Given the description of an element on the screen output the (x, y) to click on. 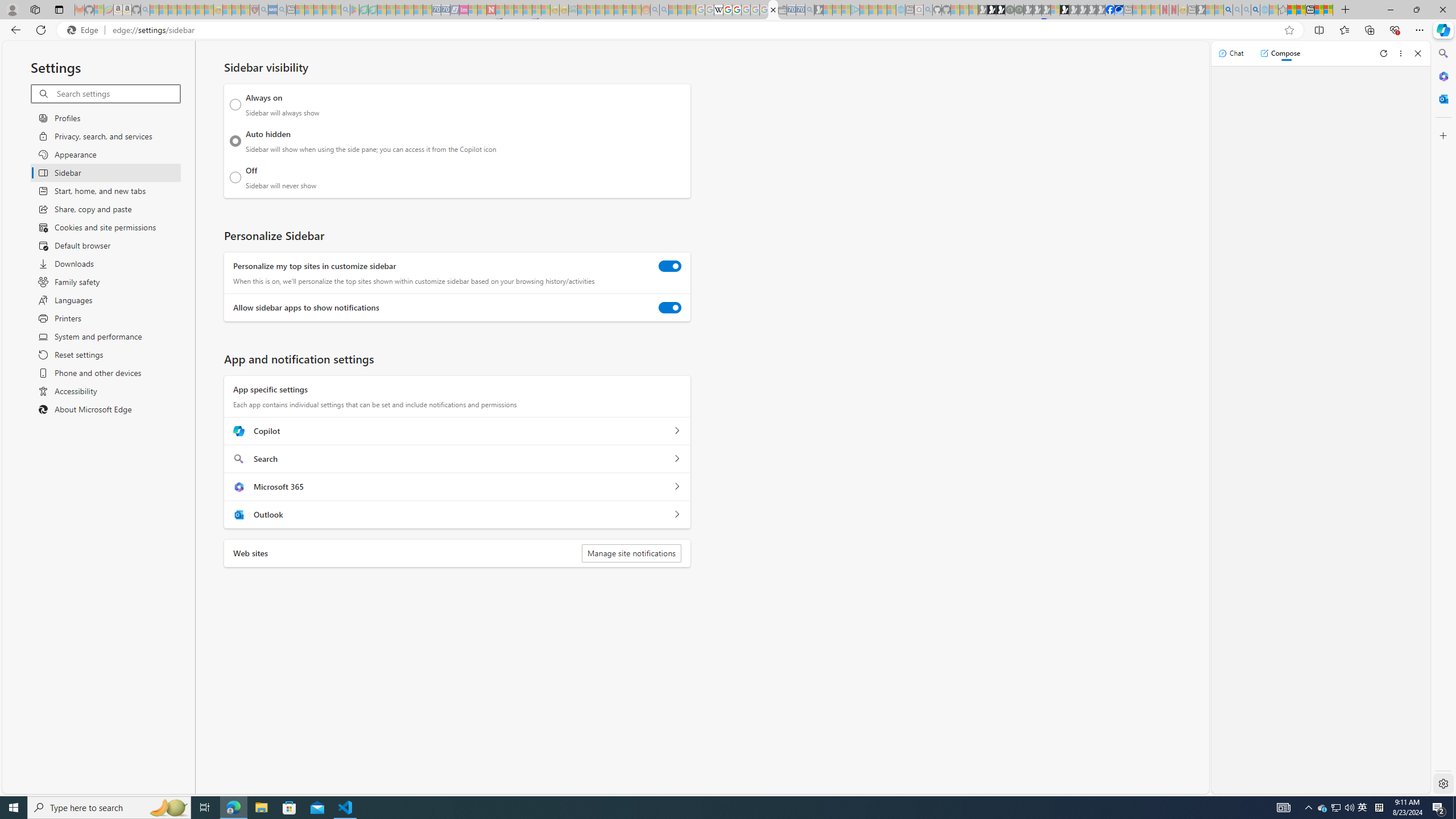
Privacy Help Center - Policies Help (726, 9)
Edge (84, 29)
Nordace | Facebook (1109, 9)
